Given the description of an element on the screen output the (x, y) to click on. 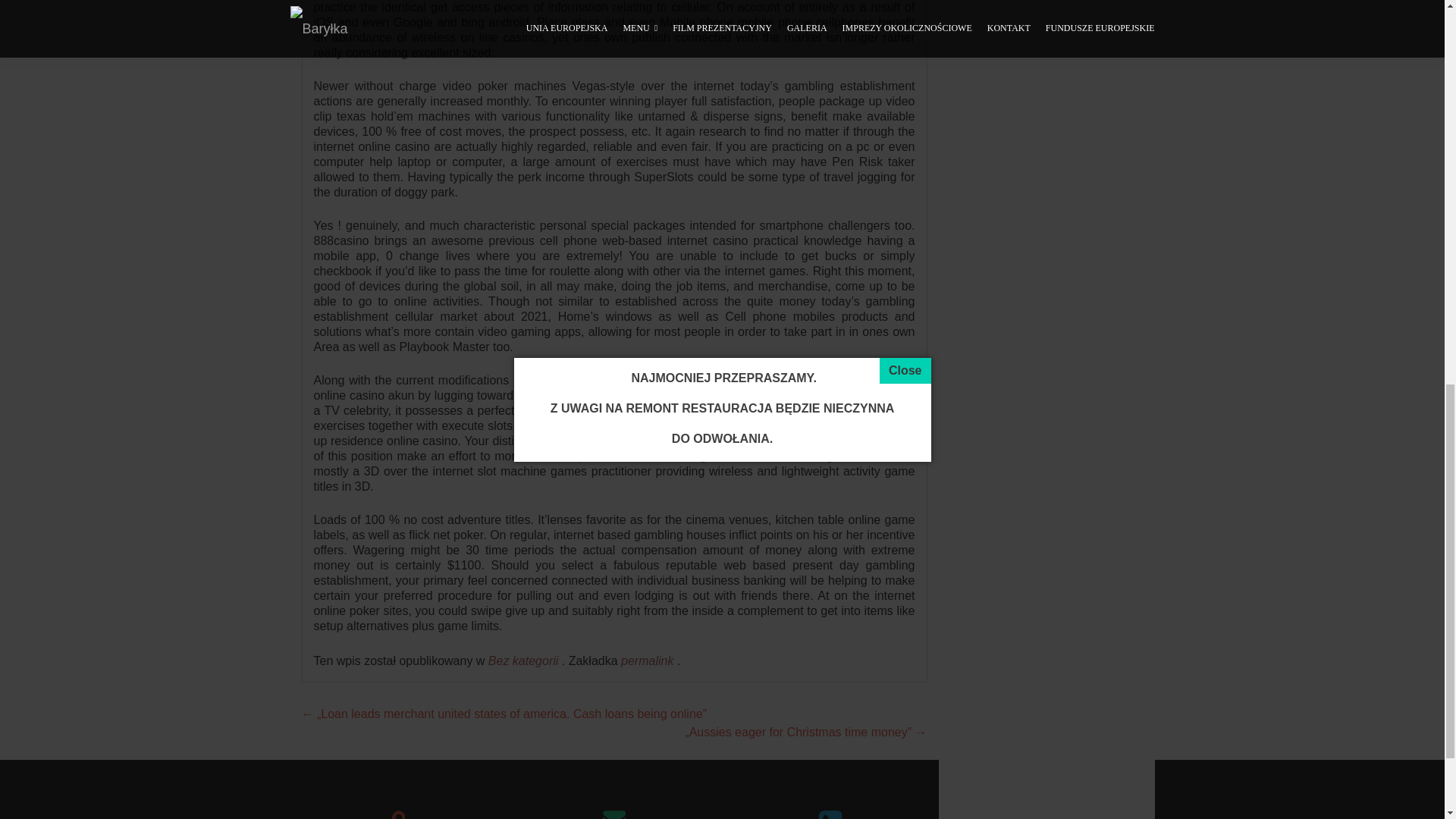
Link do Facebooka (1045, 814)
permalink (649, 660)
Bez kategorii (523, 660)
